Given the description of an element on the screen output the (x, y) to click on. 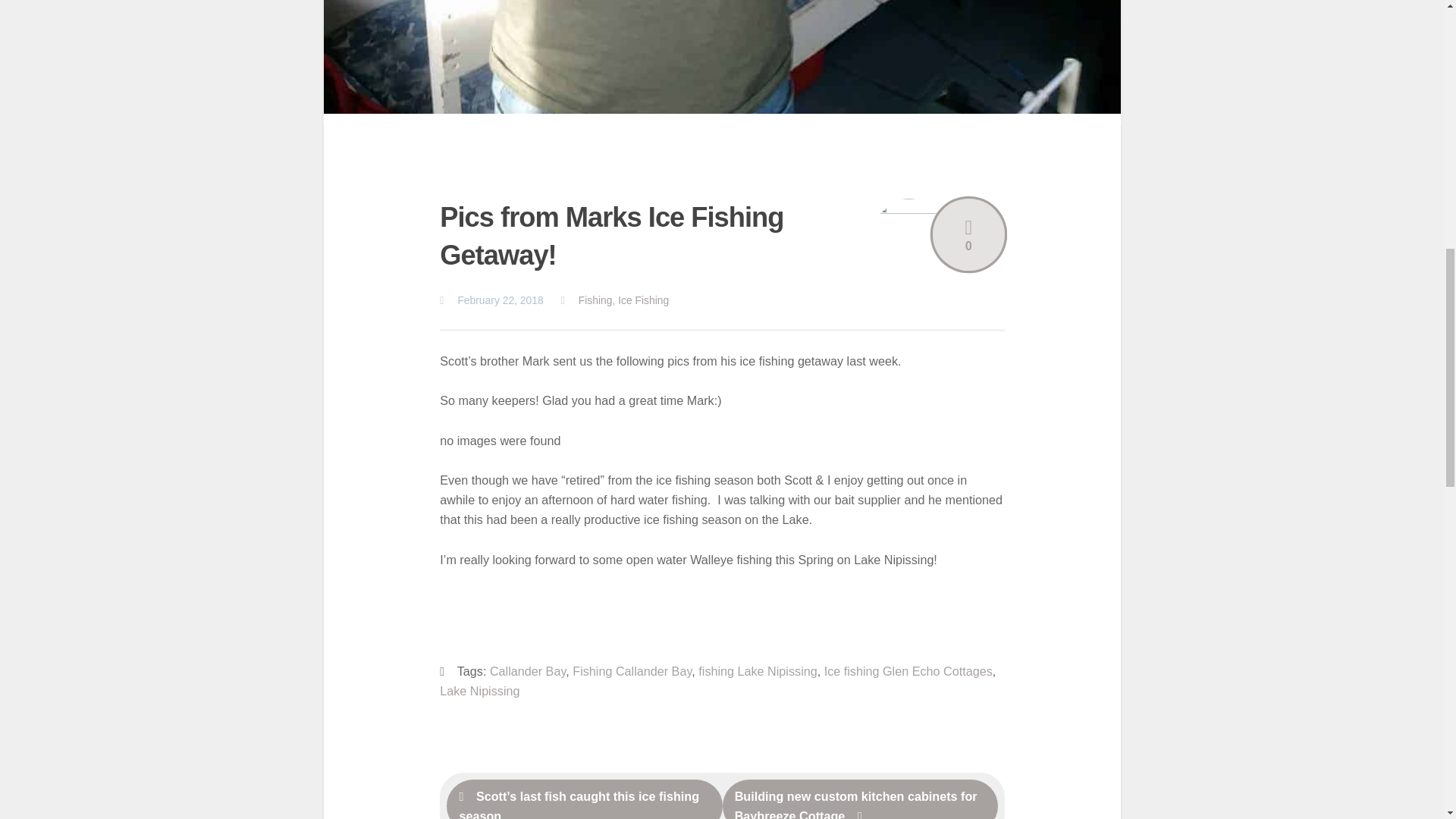
0 (968, 235)
Building new custom kitchen cabinets for Baybreeze Cottage (859, 799)
Callander Bay (527, 671)
fishing Lake Nipissing (757, 671)
Ice Fishing (642, 300)
Pics from Marks Ice Fishing Getaway! (722, 63)
Fishing (595, 300)
Ice fishing Glen Echo Cottages (908, 671)
Fishing Callander Bay (631, 671)
Lake Nipissing (479, 690)
